Given the description of an element on the screen output the (x, y) to click on. 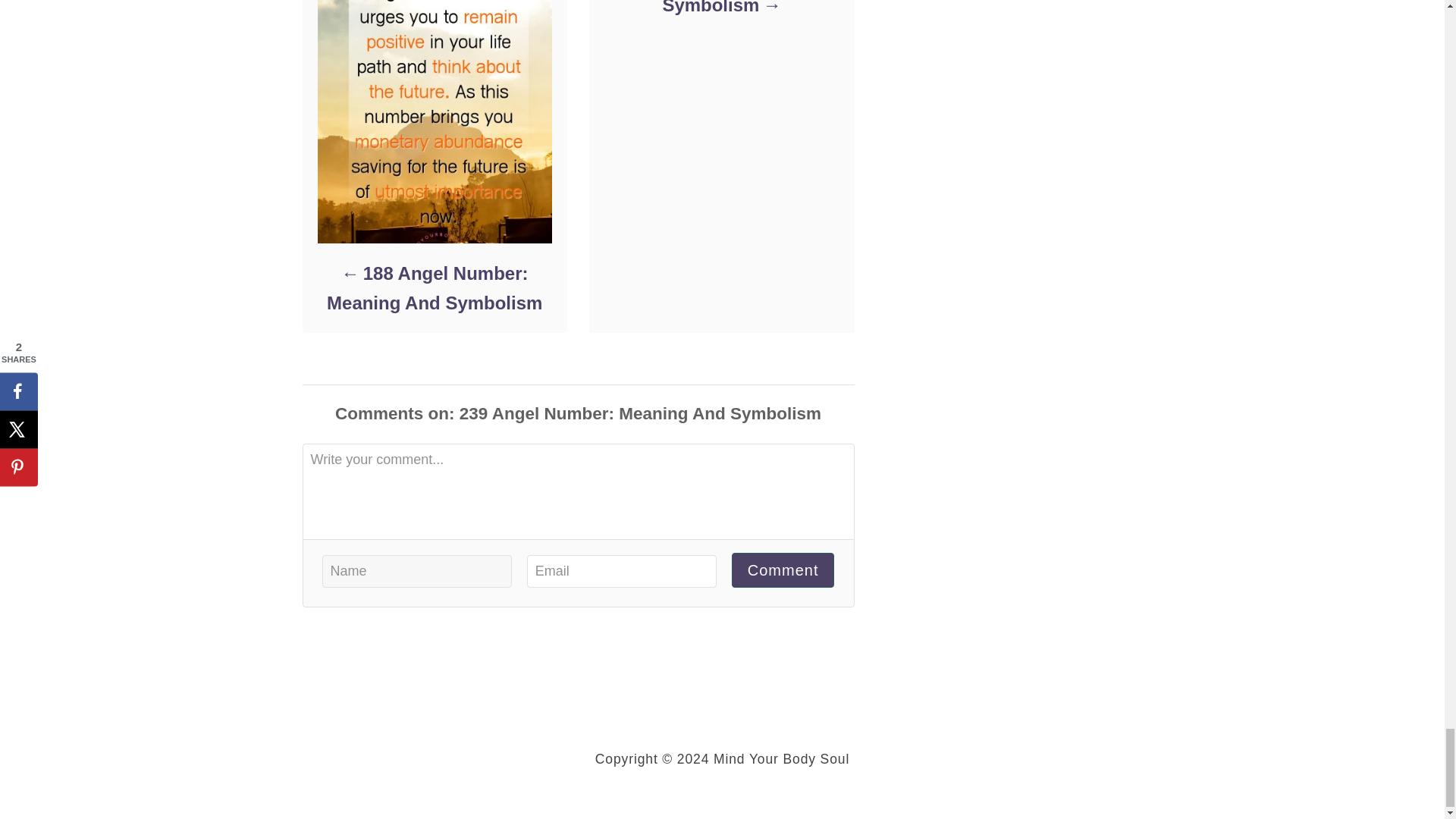
318 Angel Number: Meaning And Symbolism (721, 9)
188 Angel Number: Meaning And Symbolism (434, 287)
Comment (783, 570)
